Given the description of an element on the screen output the (x, y) to click on. 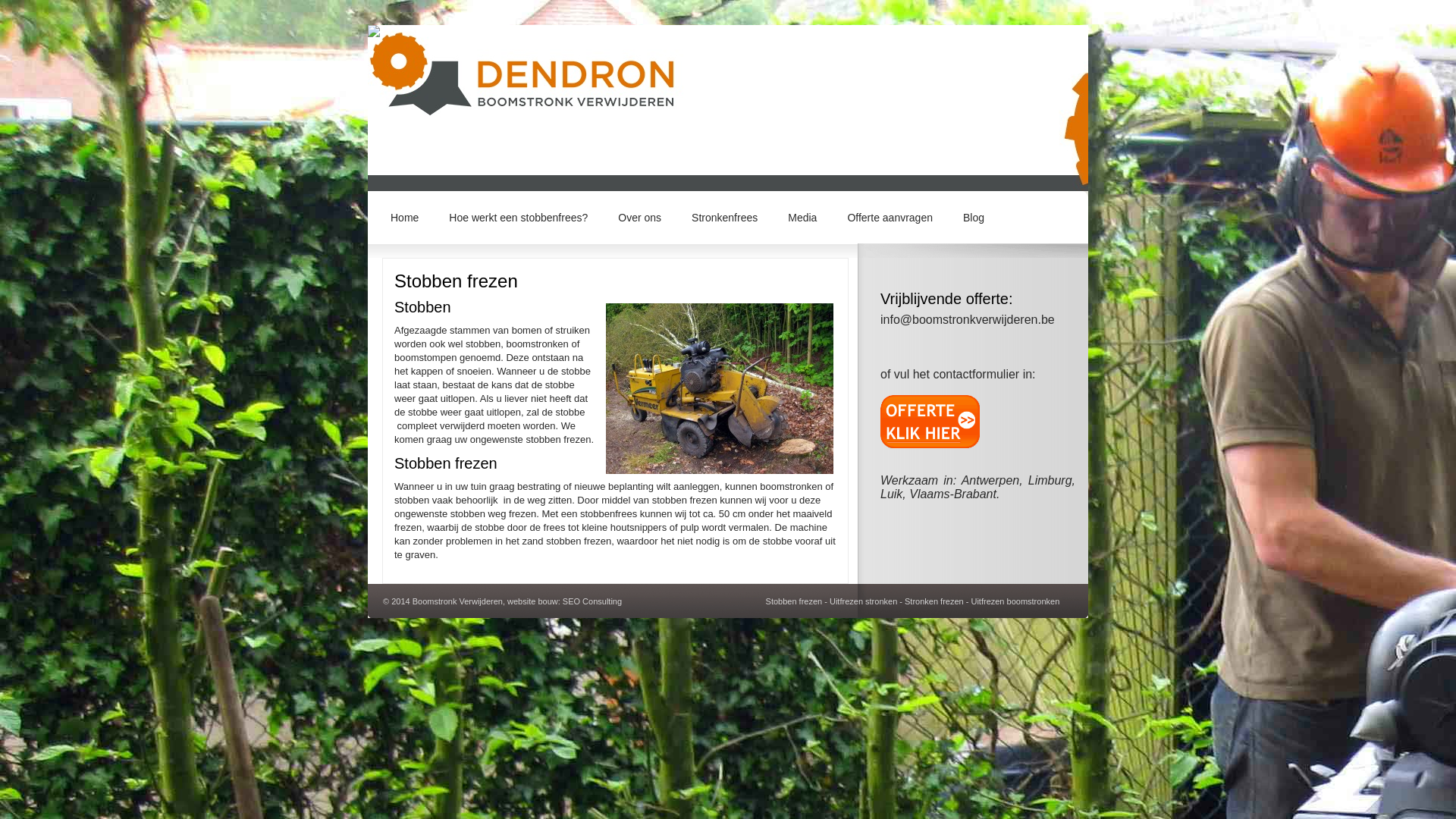
Blog Element type: text (973, 216)
stobben frezen Element type: hover (719, 388)
Stronken frezen Element type: text (933, 600)
Offerte aanvragen Element type: text (889, 216)
Stobben frezen Element type: text (793, 600)
website bouw Element type: text (532, 600)
Stronkenfrees Element type: text (724, 216)
Boomstronk Verwijderen Element type: text (457, 600)
Over ons Element type: text (639, 216)
Uitfrezen stronken Element type: text (863, 600)
Media Element type: text (801, 216)
boomstronk verwijderen offerte Element type: hover (929, 443)
stobbenfrees Element type: text (608, 513)
Hoe werkt een stobbenfrees? Element type: text (517, 216)
Uitfrezen boomstronken Element type: text (1014, 600)
Home Element type: text (404, 216)
